Given the description of an element on the screen output the (x, y) to click on. 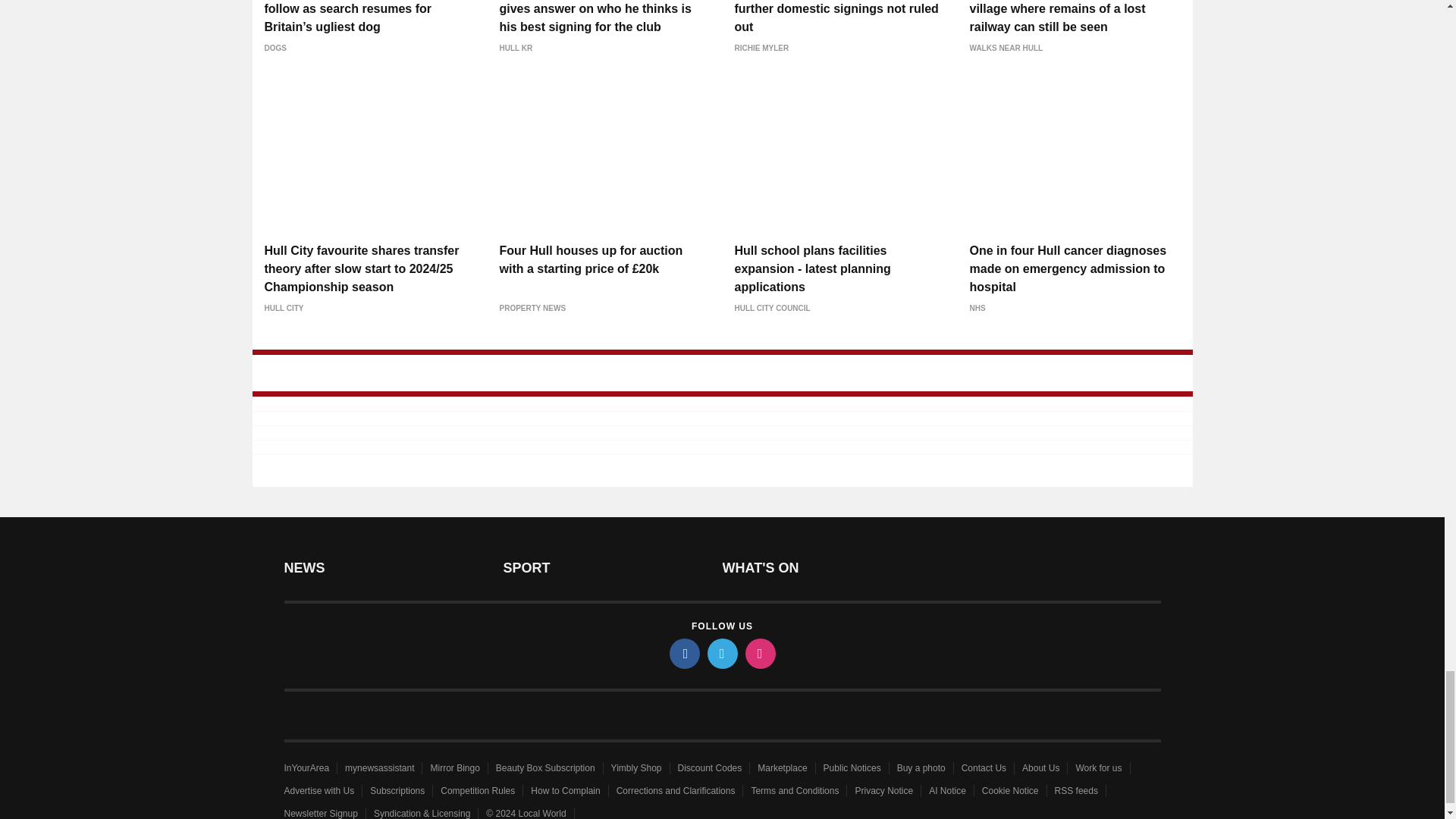
instagram (759, 653)
facebook (683, 653)
twitter (721, 653)
